Given the description of an element on the screen output the (x, y) to click on. 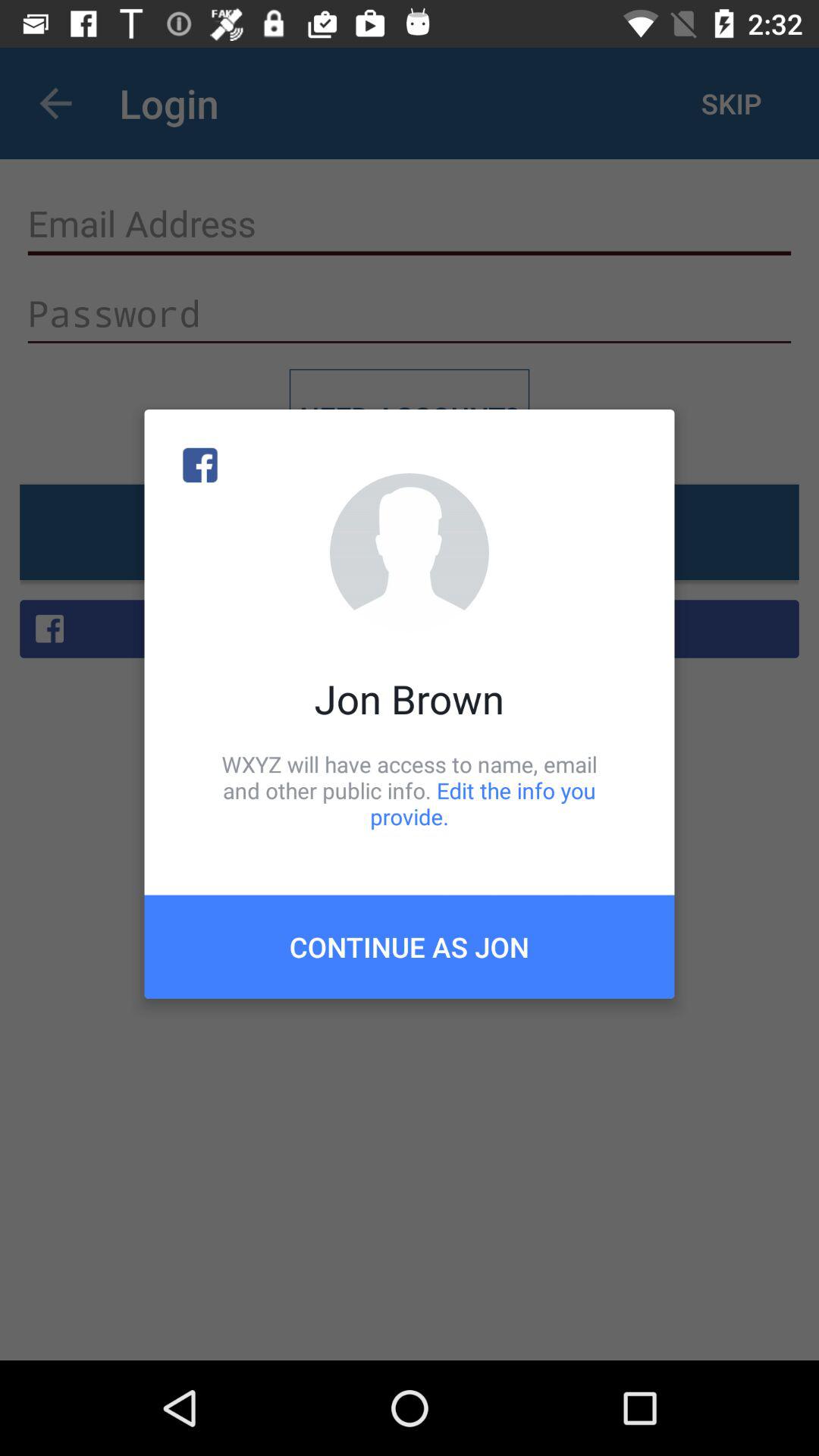
turn on the item above the continue as jon item (409, 790)
